Given the description of an element on the screen output the (x, y) to click on. 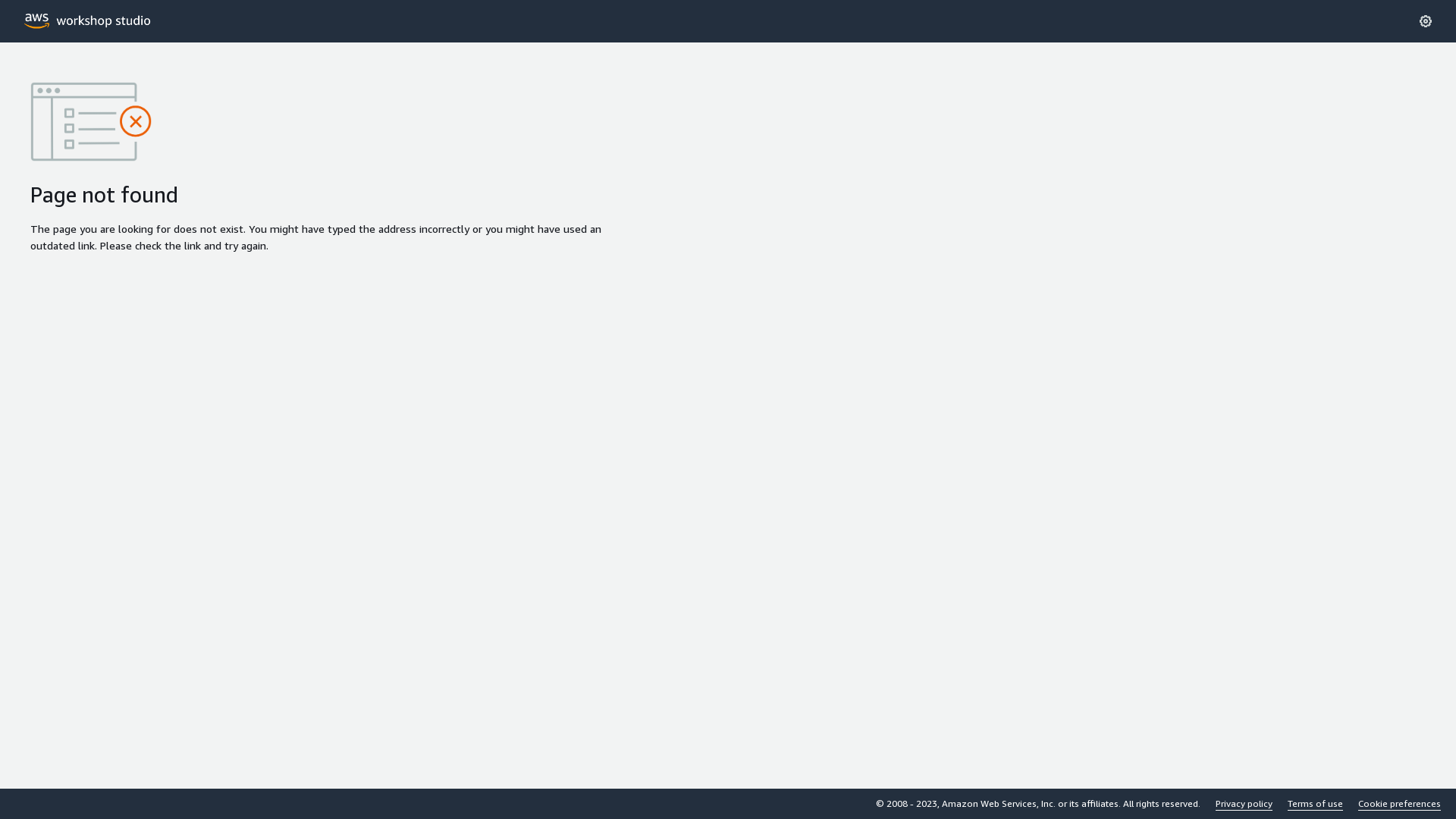
Cookie preferences Element type: text (1399, 803)
Terms of use Element type: text (1315, 803)
Privacy policy Element type: text (1243, 803)
